Given the description of an element on the screen output the (x, y) to click on. 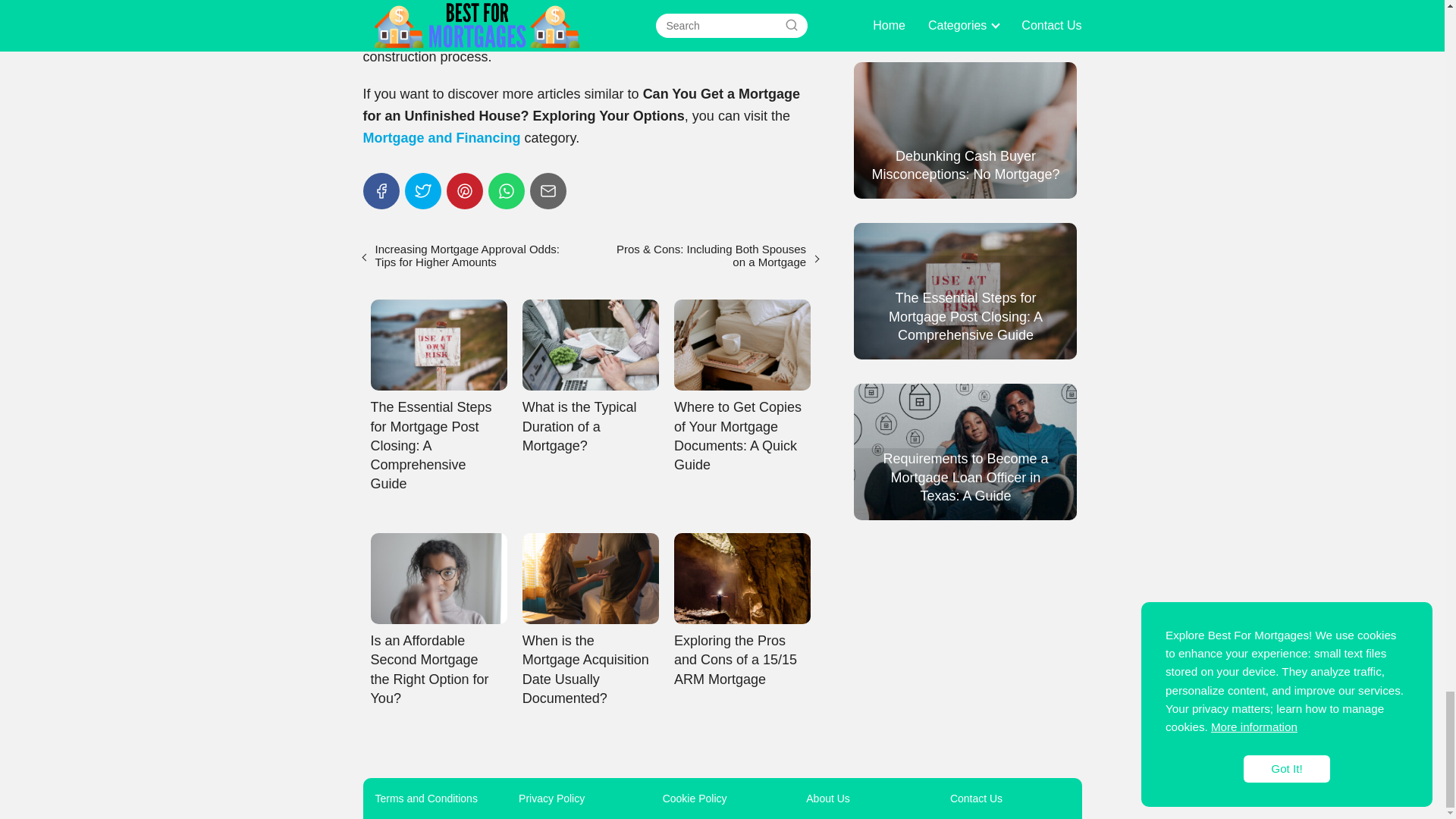
Mortgage and Financing (440, 137)
